Given the description of an element on the screen output the (x, y) to click on. 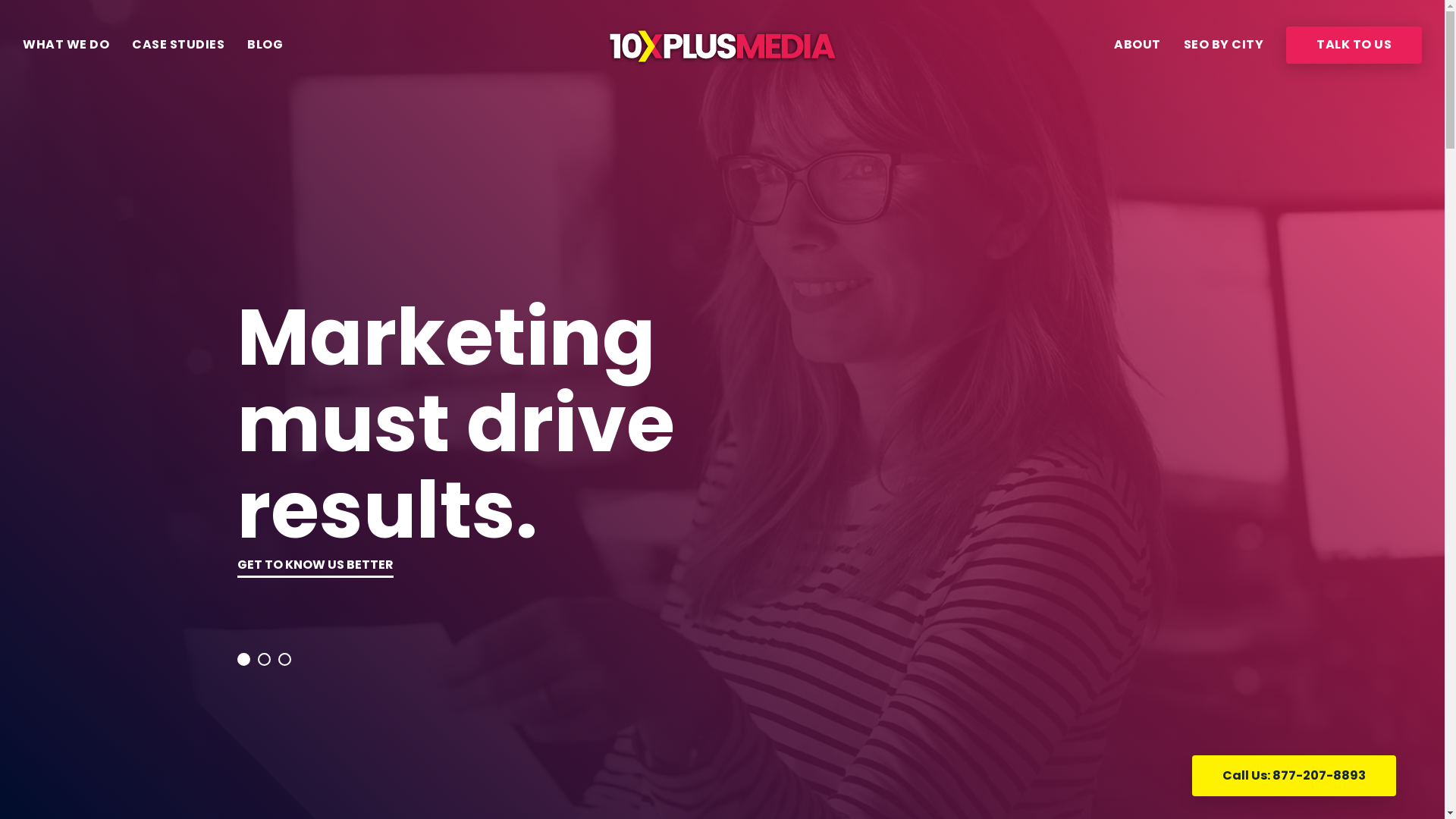
BLOG Element type: text (264, 44)
Call Us: 877-207-8893 Element type: text (1294, 775)
CASE STUDIES Element type: text (177, 44)
ABOUT Element type: text (1137, 44)
GET TO KNOW US BETTER Element type: text (315, 565)
SEO BY CITY Element type: text (1223, 44)
WHAT WE DO Element type: text (65, 44)
TALK TO US Element type: text (1353, 44)
